Given the description of an element on the screen output the (x, y) to click on. 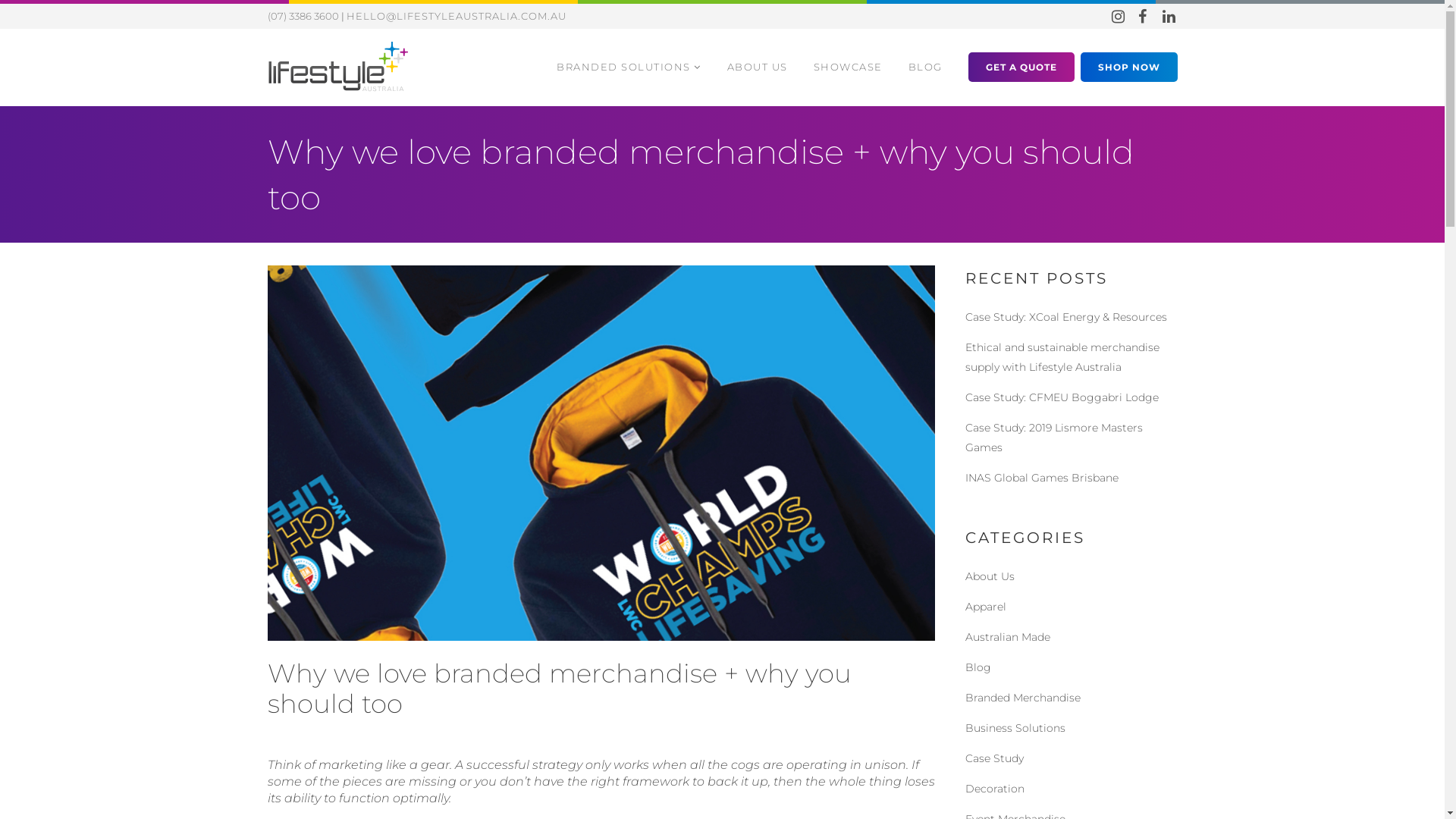
Australian Made Element type: text (1006, 636)
Share Element type: text (628, 728)
Branded Merchandise Element type: text (1021, 697)
HELLO@LIFESTYLEAUSTRALIA.COM.AU Element type: text (455, 15)
Case Study Element type: text (993, 758)
Branded Merchandise Element type: text (433, 728)
Case Study: XCoal Energy & Resources Element type: text (1065, 316)
ABOUT US Element type: text (757, 66)
Blog Element type: text (977, 667)
Decoration Element type: text (993, 788)
Business Solutions Element type: text (1014, 727)
Apparel Element type: text (984, 606)
Blog Element type: text (368, 728)
69 Likes Element type: text (583, 729)
Case Study: 2019 Lismore Masters Games Element type: text (1053, 437)
BLOG Element type: text (924, 66)
GET A QUOTE Element type: text (1020, 66)
INAS Global Games Brisbane Element type: text (1040, 477)
(07) 3386 3600 Element type: text (302, 15)
SHOP NOW Element type: text (1127, 66)
Case Study: CFMEU Boggabri Lodge Element type: text (1060, 397)
BRANDED SOLUTIONS Element type: text (628, 66)
Lemon Tree Element type: text (525, 728)
SHOWCASE Element type: text (847, 66)
About Us Element type: text (988, 576)
